Given the description of an element on the screen output the (x, y) to click on. 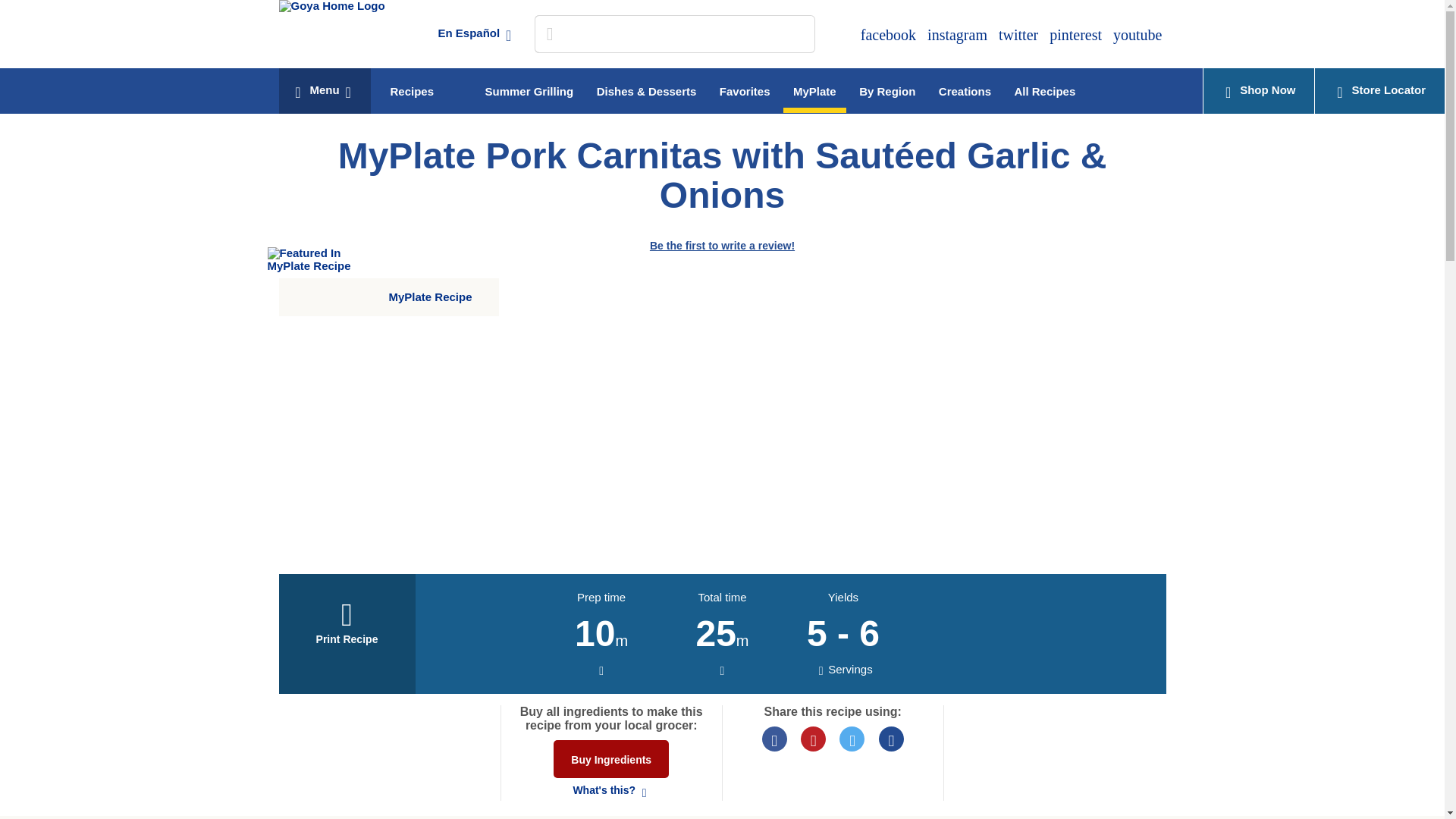
sub: By Region (886, 87)
sub: MyPlate  (814, 90)
sub: All Recipes (1044, 87)
sub: Summer Grilling (528, 87)
sub: Favorites (745, 87)
sub: Creations (964, 87)
